Given the description of an element on the screen output the (x, y) to click on. 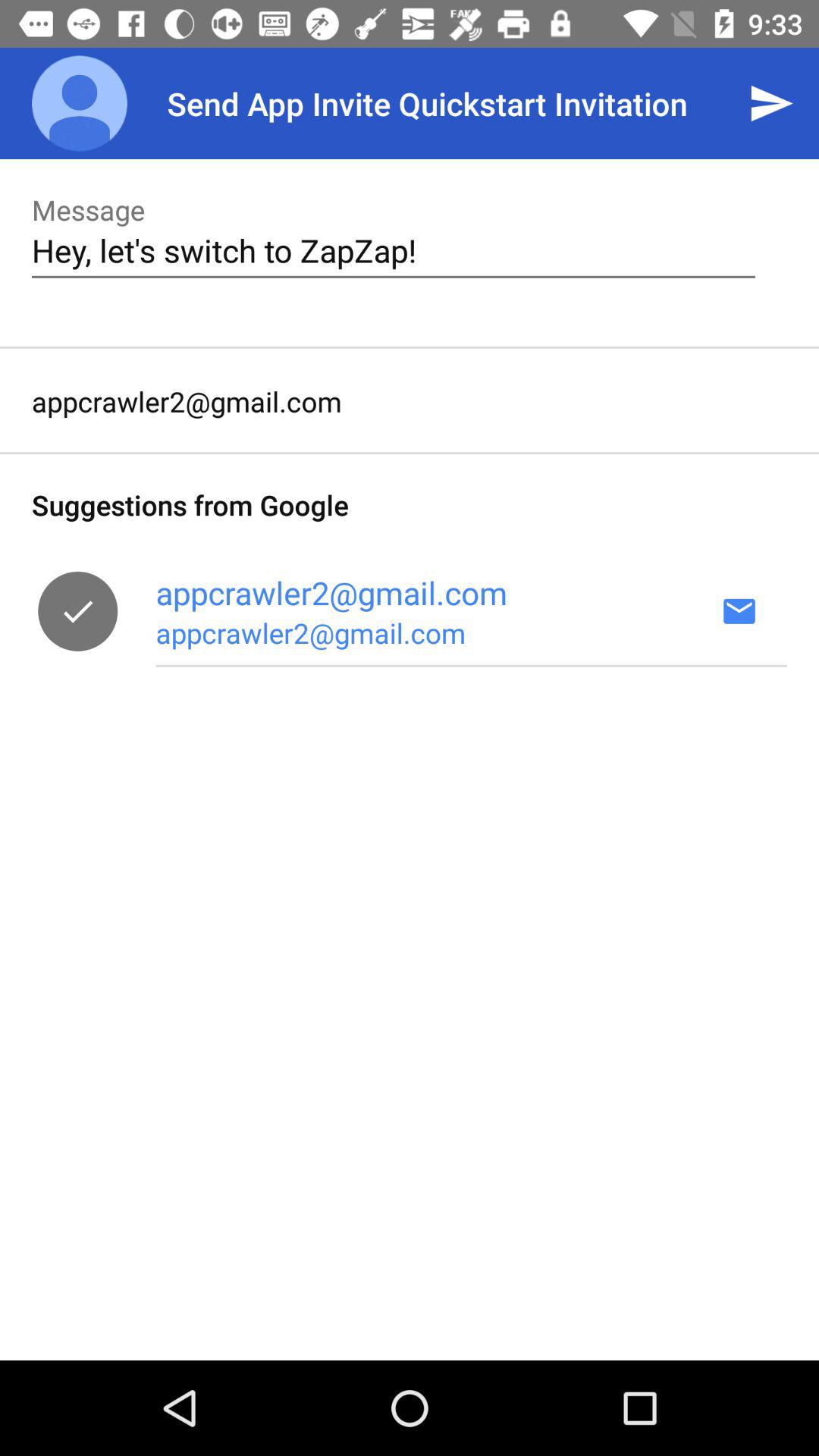
press the item next to the send app invite app (79, 103)
